Given the description of an element on the screen output the (x, y) to click on. 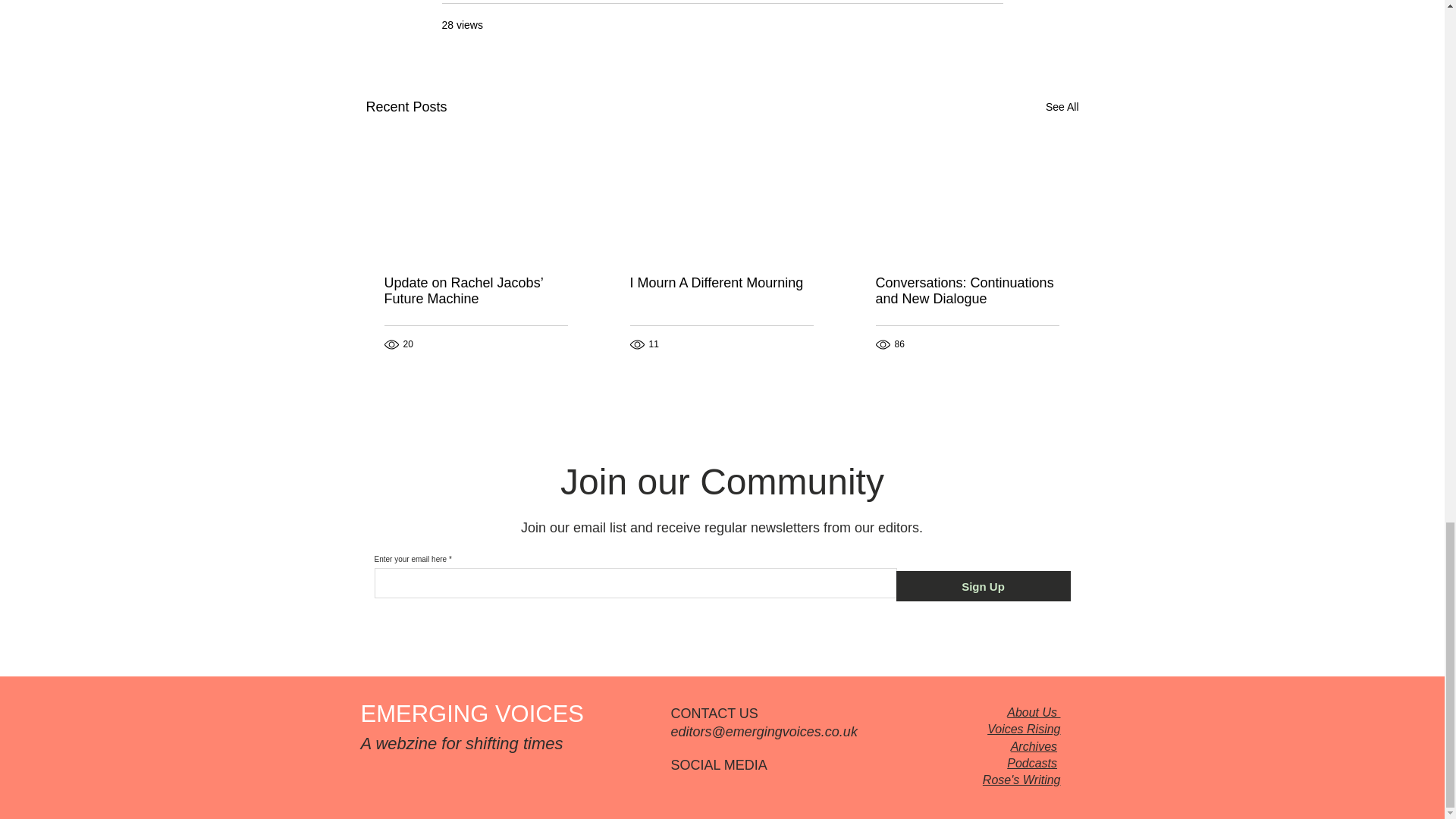
Archives (1033, 746)
About Us  (1033, 712)
I Mourn A Different Mourning (720, 283)
Rose's Writing (1021, 779)
See All (1061, 106)
Voices Rising (1023, 728)
Sign Up (983, 585)
Conversations: Continuations and New Dialogue (966, 291)
Podcasts (1032, 762)
